Given the description of an element on the screen output the (x, y) to click on. 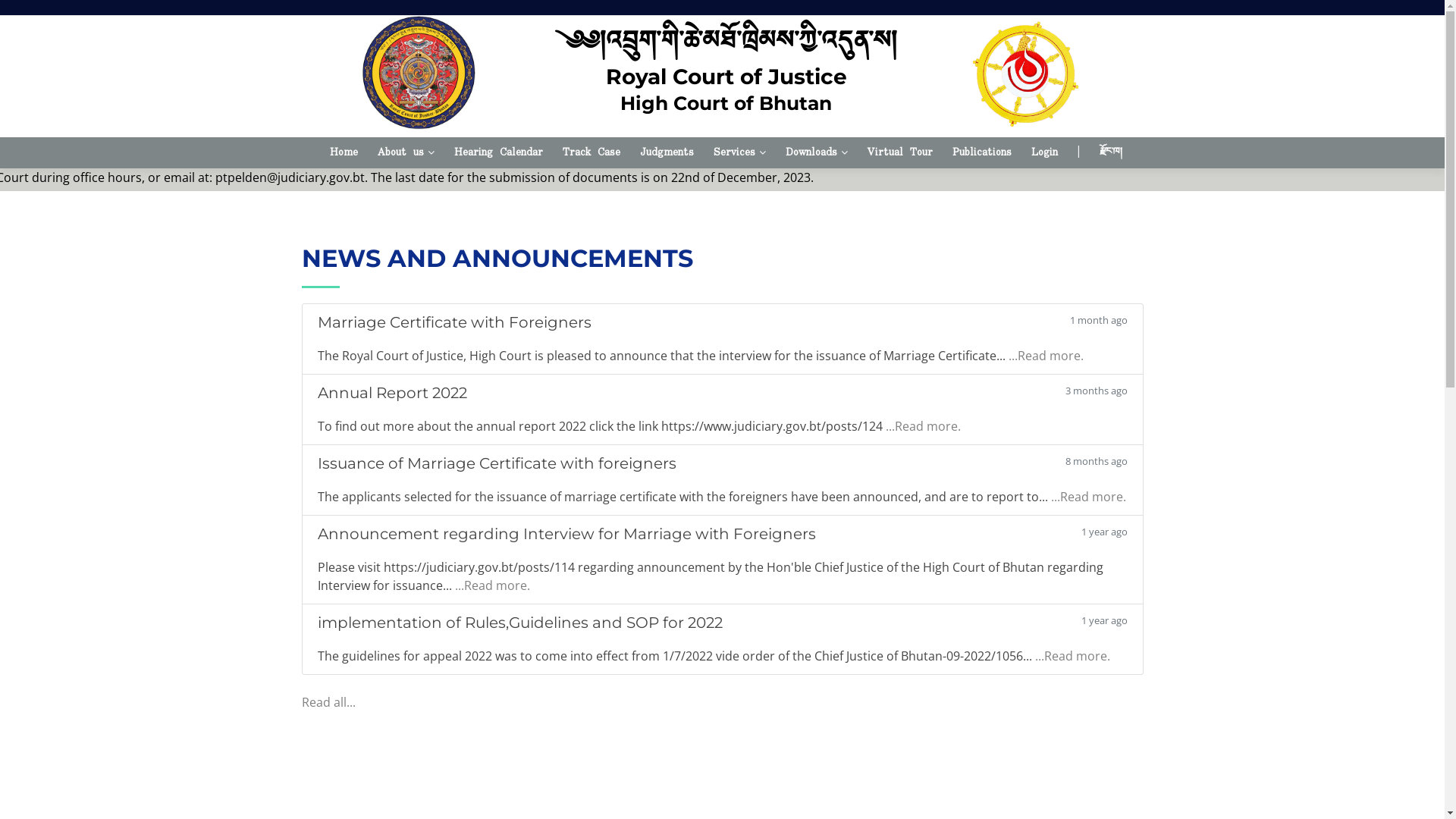
...Read more. Element type: text (922, 753)
Judgments Element type: text (666, 152)
Services Element type: text (739, 152)
Hearing Calendar Element type: text (498, 152)
Virtual Tour Element type: text (899, 152)
...Read more. Element type: text (1045, 682)
Royal Court of Justice Element type: text (725, 76)
Downloads Element type: text (816, 152)
Home Element type: text (343, 152)
Login Element type: text (1044, 152)
Publications Element type: text (981, 152)
About us Element type: text (405, 152)
Track Case Element type: text (591, 152)
